Given the description of an element on the screen output the (x, y) to click on. 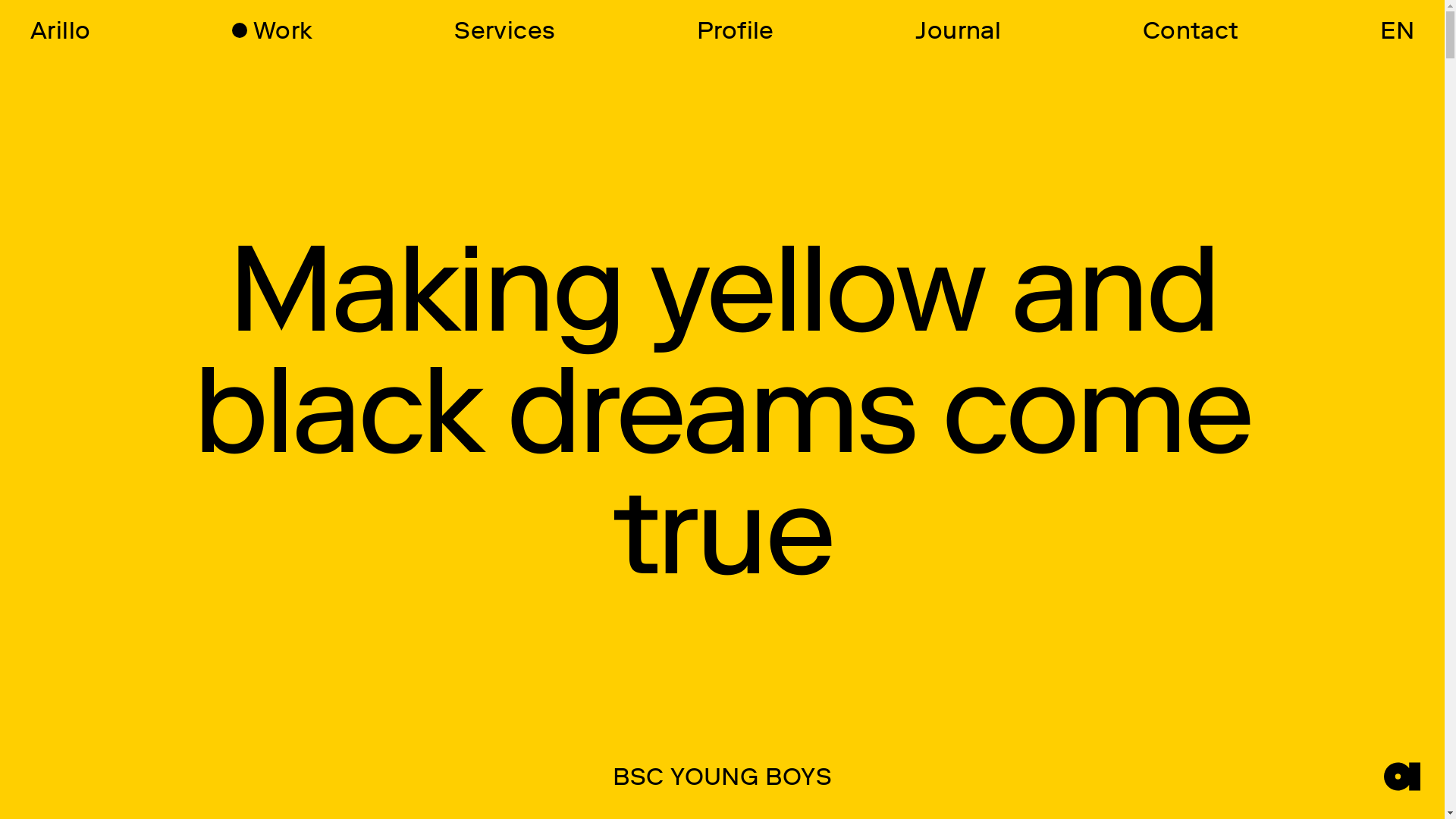
Arillo Element type: text (60, 29)
Profile Element type: text (735, 29)
Contact Element type: text (1190, 29)
Journal Element type: text (958, 29)
Services Element type: text (504, 29)
EN Element type: text (1397, 29)
Work Element type: text (272, 29)
